Given the description of an element on the screen output the (x, y) to click on. 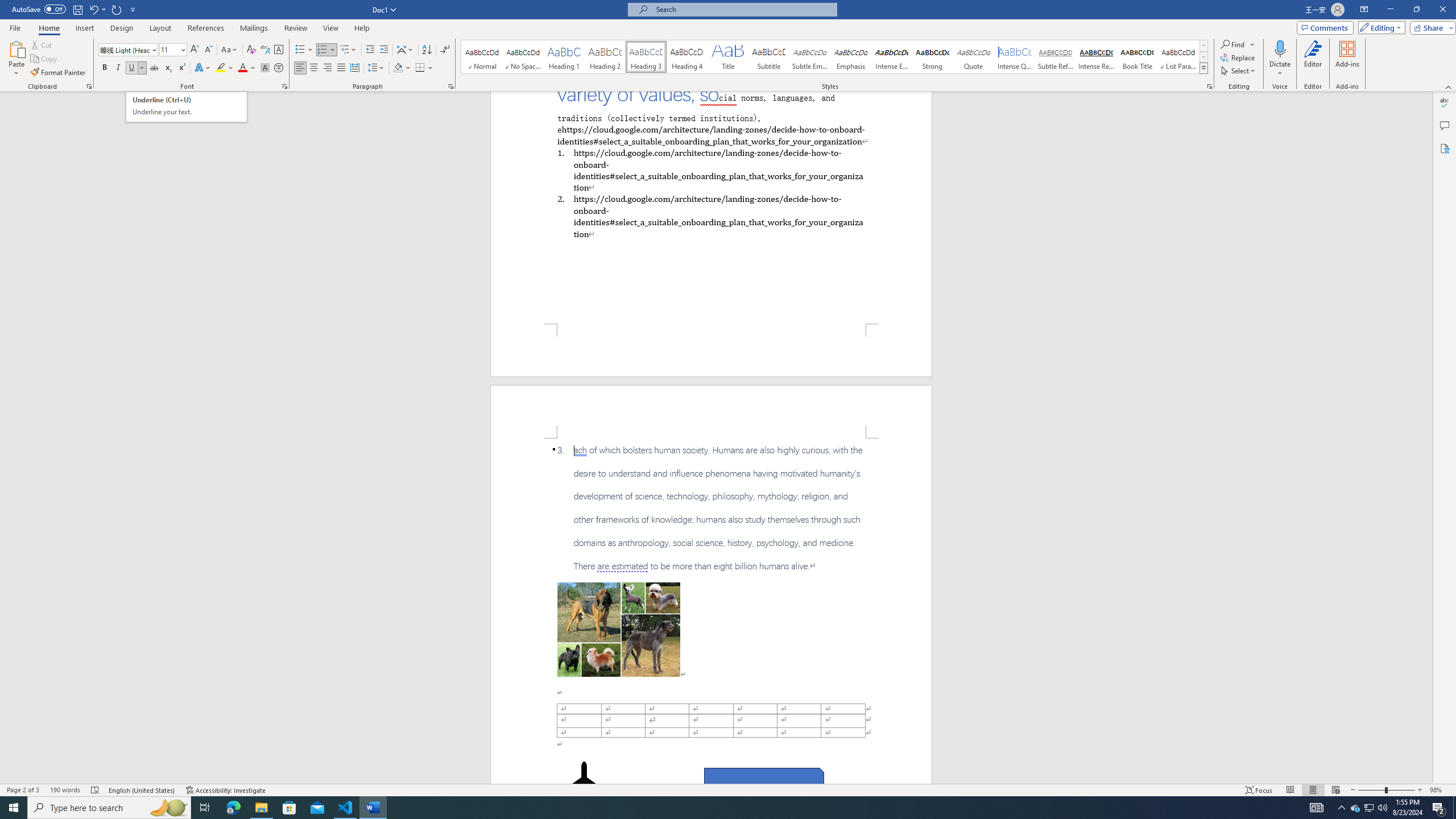
2. (710, 216)
Undo Paragraph Alignment (92, 9)
